Given the description of an element on the screen output the (x, y) to click on. 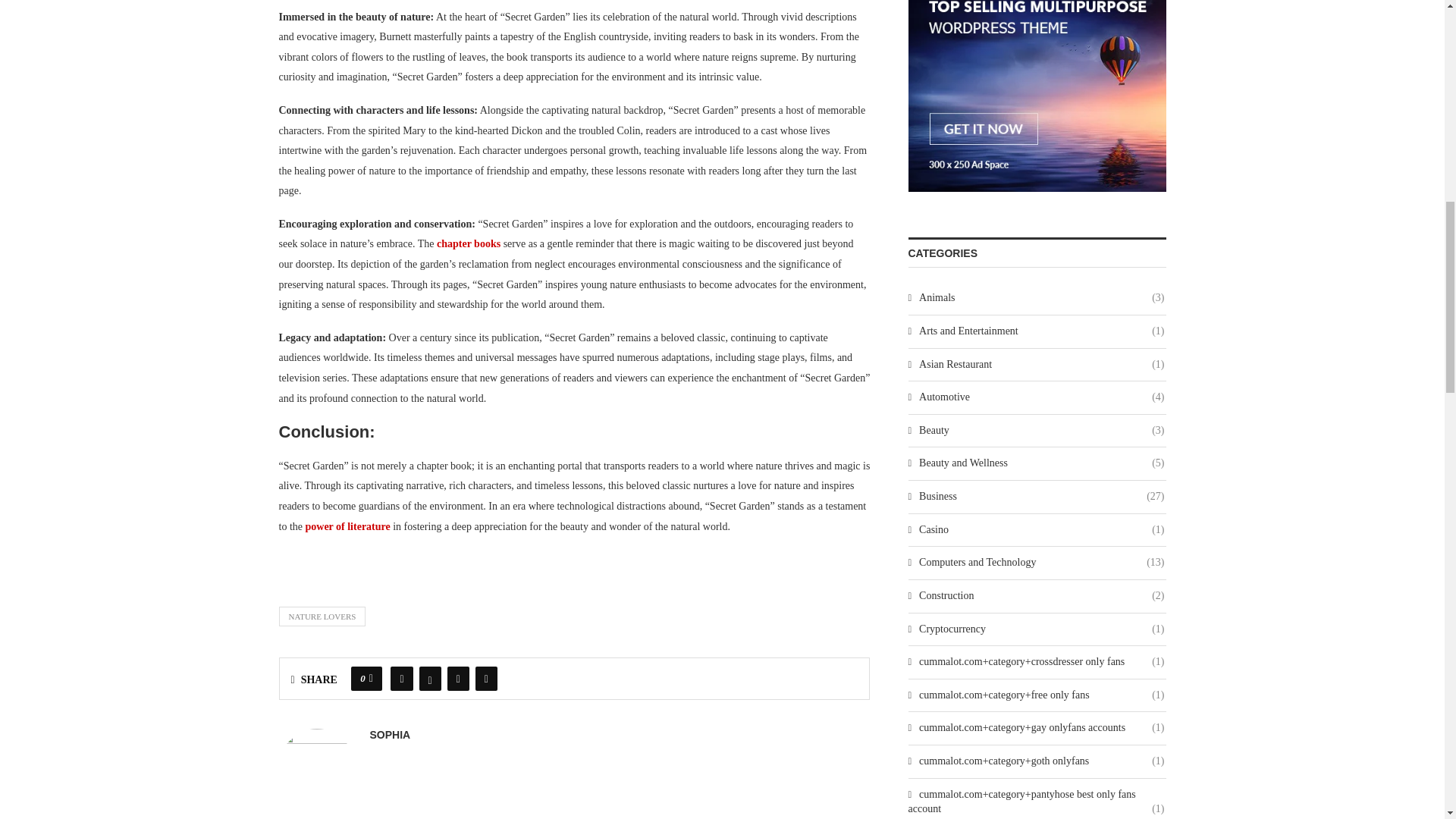
Author Sophia (389, 734)
